Given the description of an element on the screen output the (x, y) to click on. 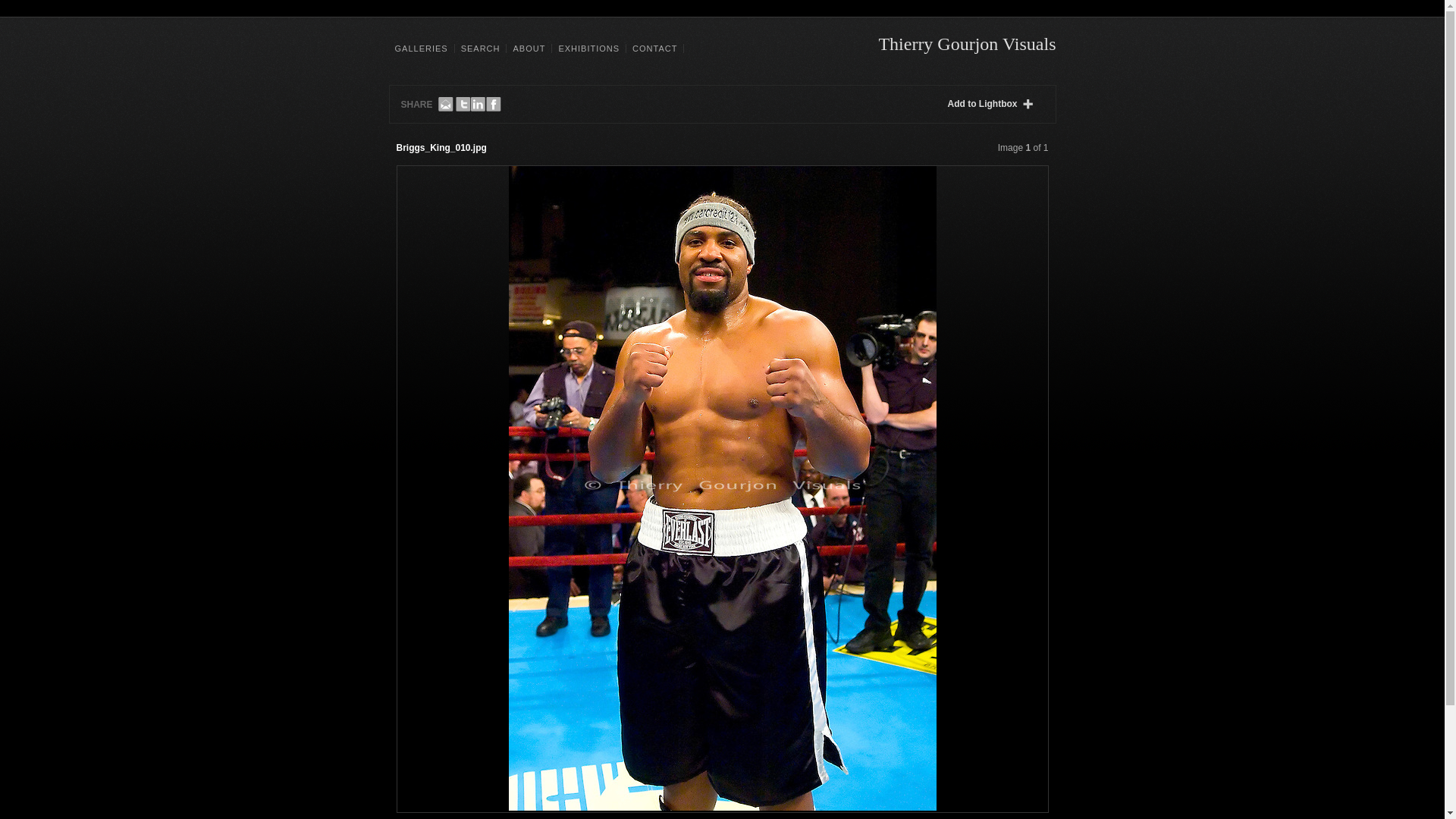
ABOUT (528, 48)
EXHIBITIONS (588, 48)
Thierry Gourjon Visuals (966, 44)
SEARCH (480, 48)
Email to a Friend (445, 105)
CONTACT (654, 48)
GALLERIES (421, 48)
Add to Lightbox (994, 104)
